Given the description of an element on the screen output the (x, y) to click on. 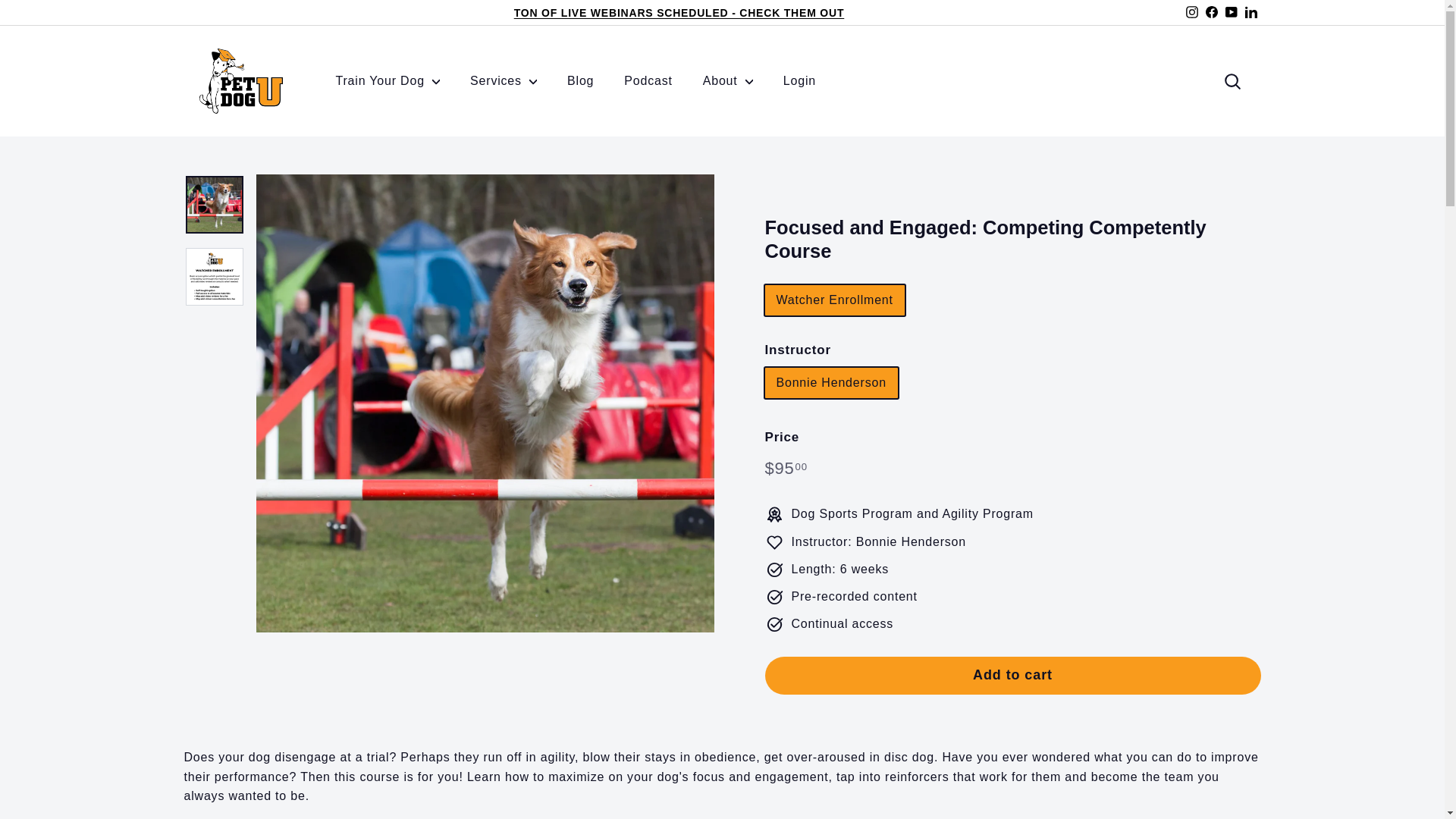
TON OF LIVE WEBINARS SCHEDULED - CHECK THEM OUT (678, 12)
instagram (1192, 11)
Live Webinars (678, 12)
